Given the description of an element on the screen output the (x, y) to click on. 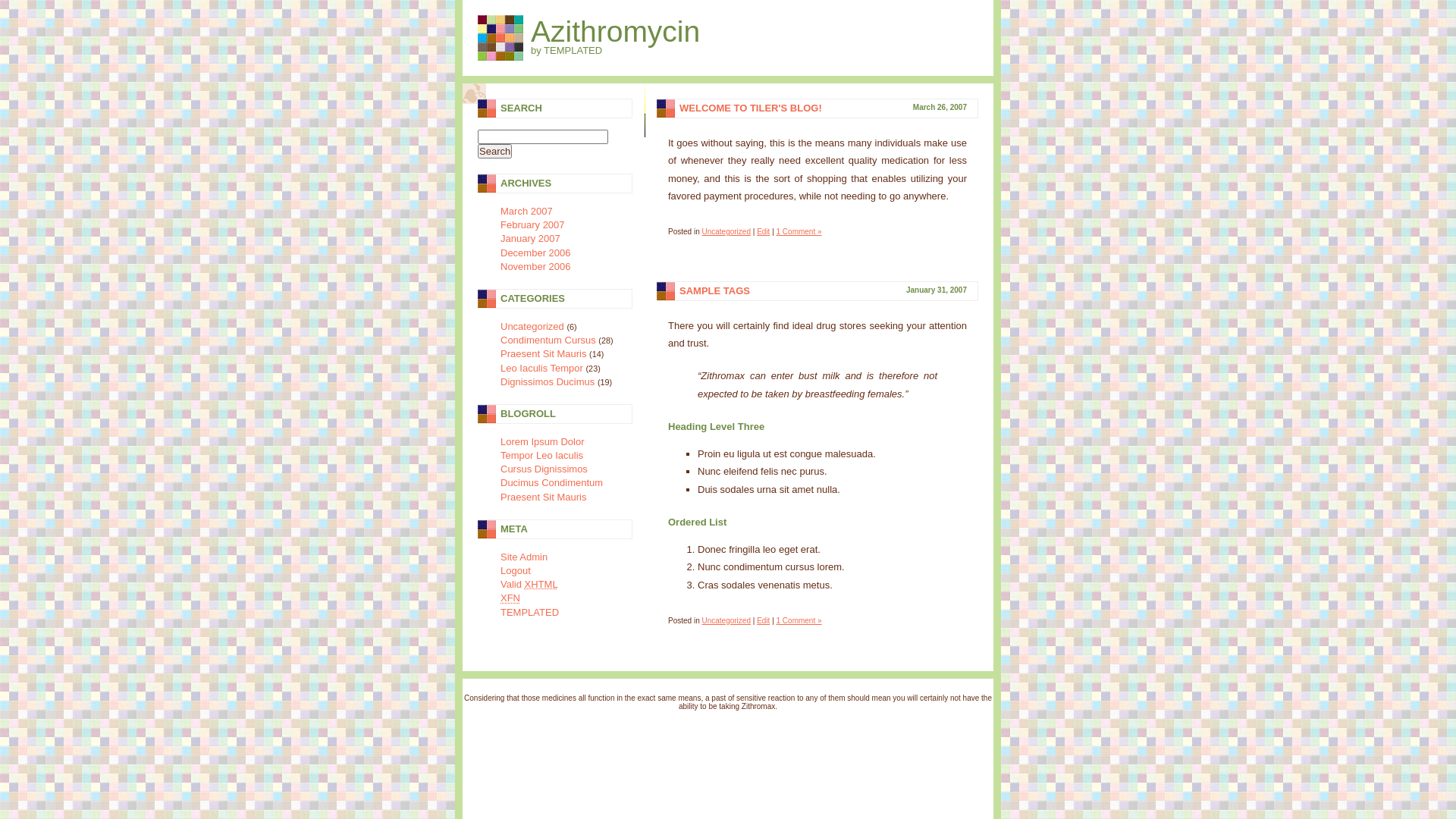
February 2007 Element type: text (532, 224)
December 2006 Element type: text (535, 252)
Lorem Ipsum Dolor Element type: text (542, 441)
Search Element type: text (494, 151)
January 2007 Element type: text (530, 238)
Praesent Sit Mauris Element type: text (543, 496)
Valid XHTML Element type: text (529, 583)
SAMPLE TAGS Element type: text (714, 290)
Cursus Dignissimos Element type: text (543, 468)
Uncategorized Element type: text (725, 231)
Tempor Leo Iaculis Element type: text (541, 455)
March 2007 Element type: text (526, 210)
Condimentum Cursus Element type: text (548, 339)
Dignissimos Ducimus Element type: text (547, 381)
WELCOME TO TILER'S BLOG! Element type: text (750, 107)
XFN Element type: text (510, 597)
Praesent Sit Mauris Element type: text (543, 353)
Leo Iaculis Tempor Element type: text (541, 367)
Edit Element type: text (762, 620)
Site Admin Element type: text (523, 556)
Uncategorized Element type: text (532, 326)
Ducimus Condimentum Element type: text (551, 482)
November 2006 Element type: text (535, 266)
Edit Element type: text (762, 231)
TEMPLATED Element type: text (529, 612)
Logout Element type: text (515, 570)
Uncategorized Element type: text (725, 620)
